Given the description of an element on the screen output the (x, y) to click on. 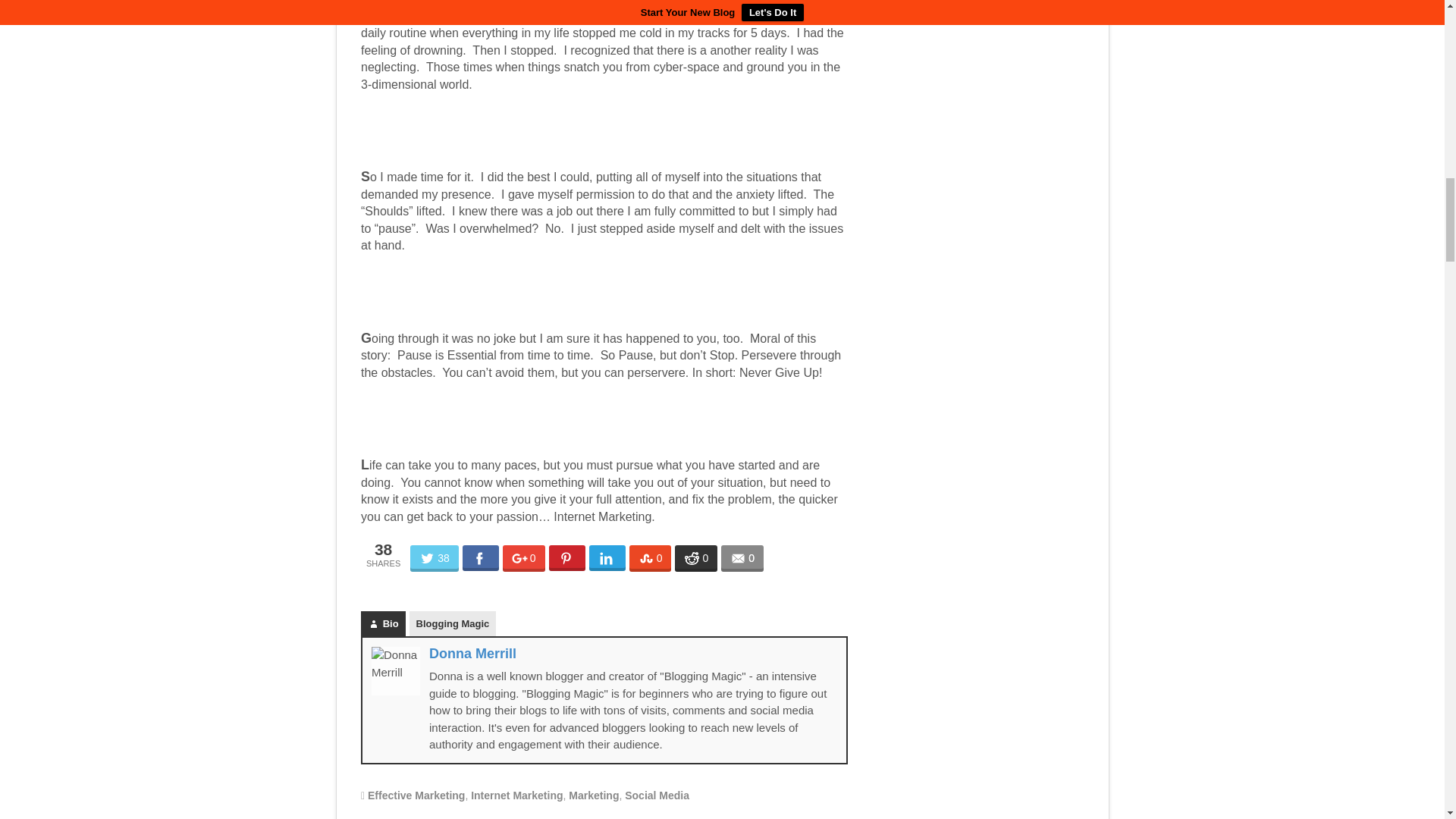
Donna Merrill (472, 653)
Blogging Magic (452, 623)
0 (523, 558)
0 (741, 558)
0 (649, 558)
0 (696, 558)
38 (434, 558)
Bio (383, 623)
Effective Marketing (416, 795)
